Given the description of an element on the screen output the (x, y) to click on. 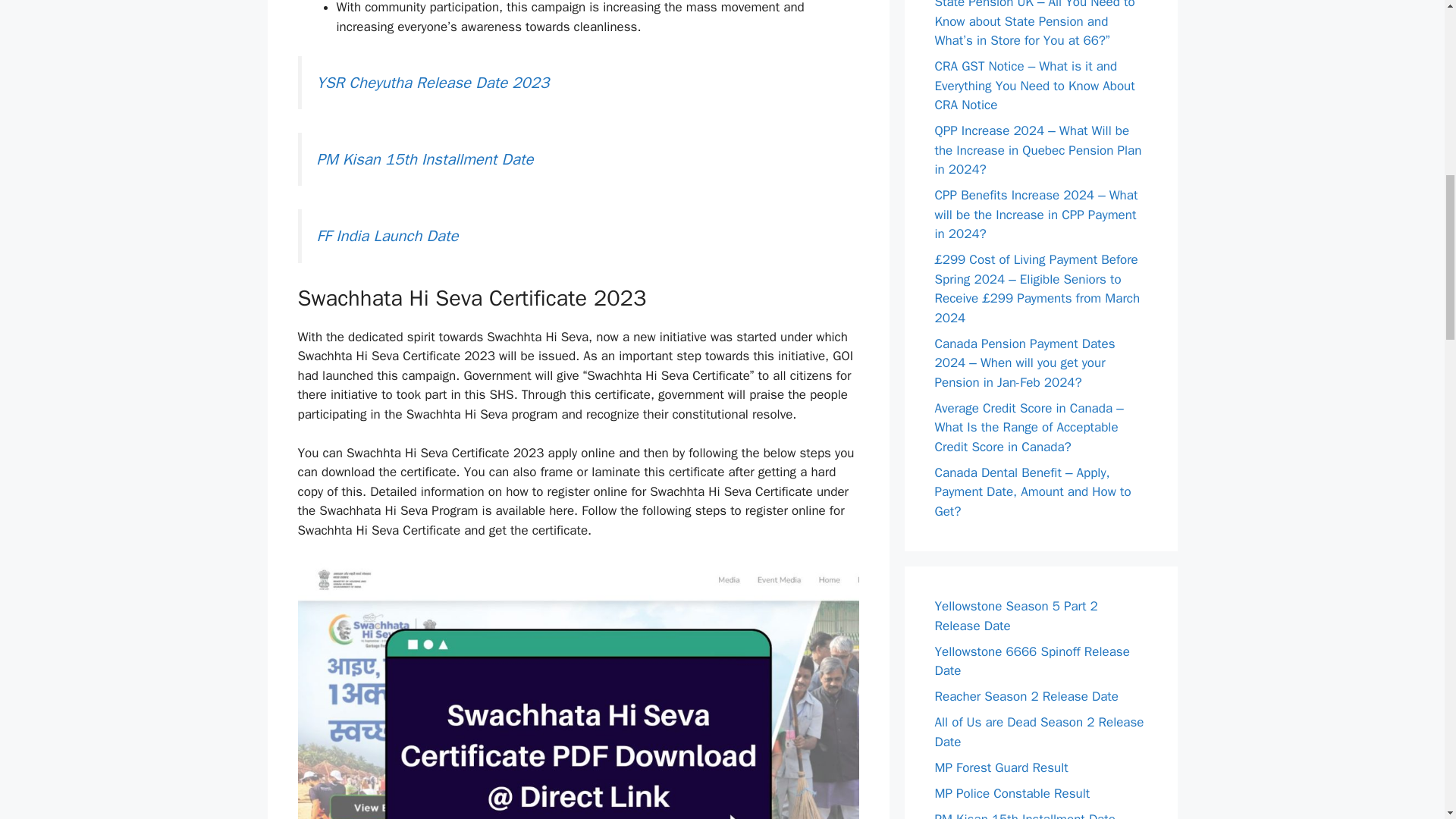
FF India Launch Date (387, 235)
YSR Cheyutha Release Date 2023 (433, 82)
PM Kisan 15th Installment Date (425, 158)
